Given the description of an element on the screen output the (x, y) to click on. 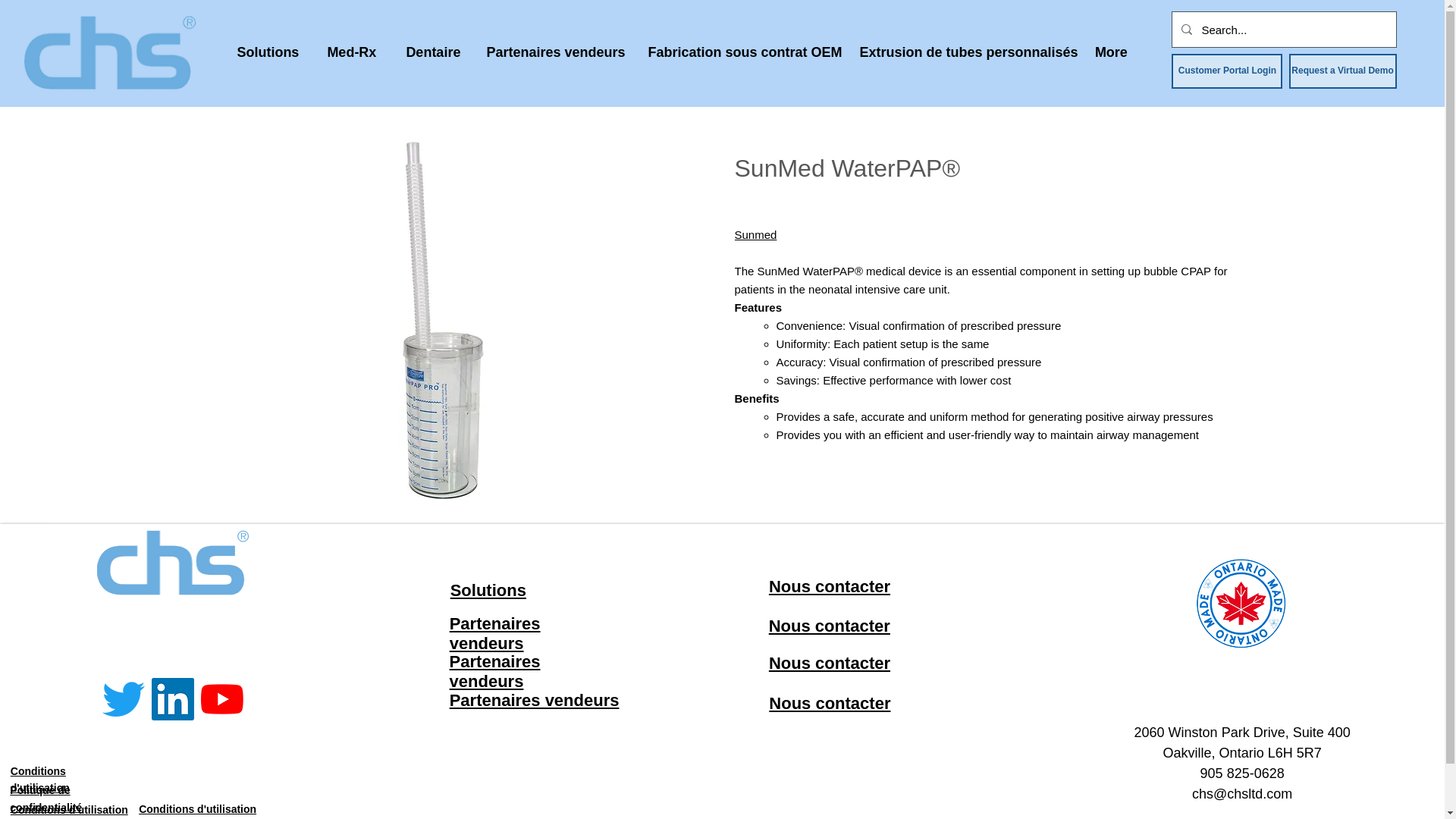
Solutions (267, 52)
Partenaires vendeurs (555, 52)
Med-Rx (351, 52)
Dentaire (432, 52)
Fabrication sous contrat OEM (741, 52)
